Given the description of an element on the screen output the (x, y) to click on. 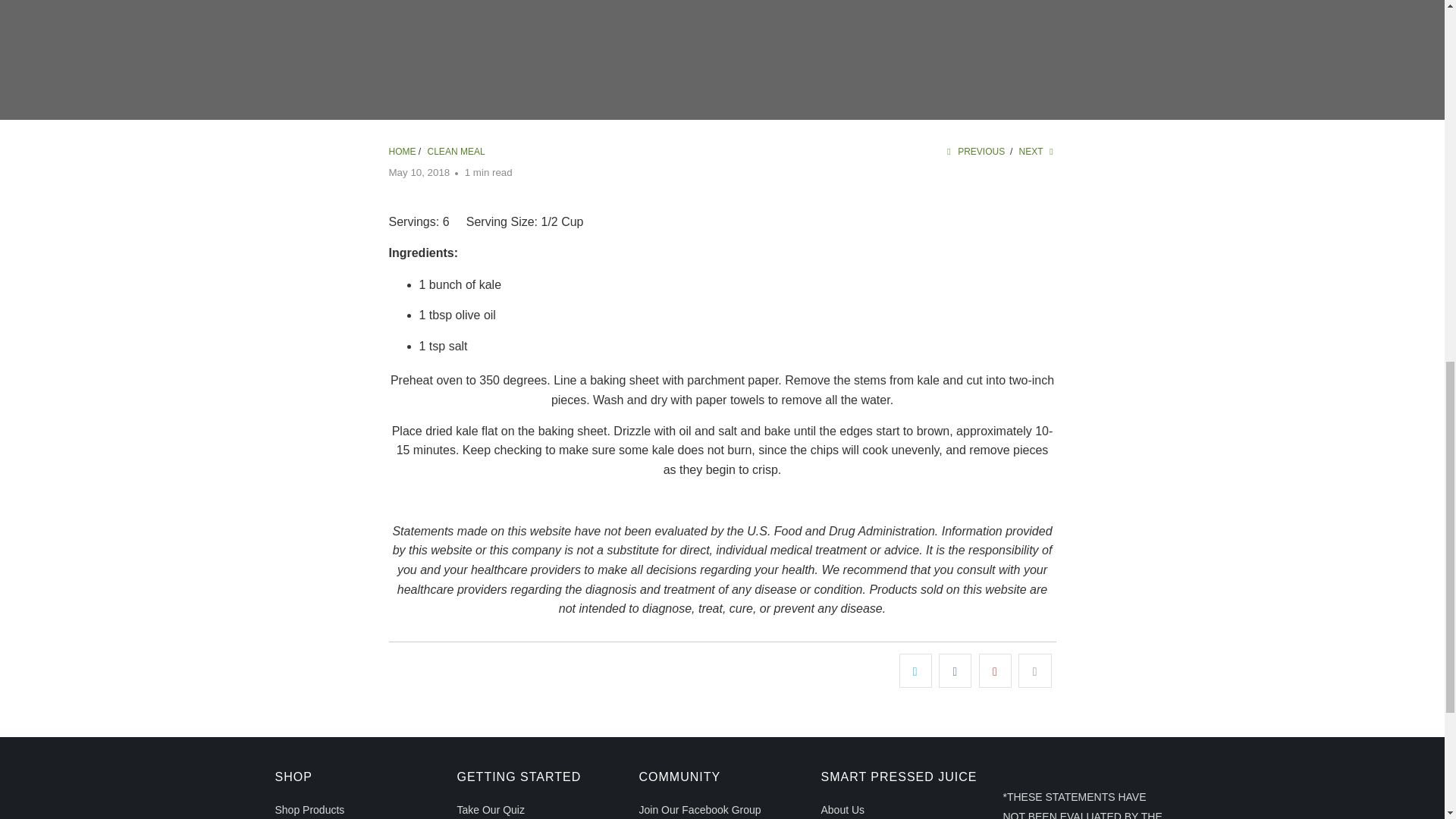
Clean Meal (456, 151)
Share this on Facebook (955, 670)
Share this on Twitter (915, 670)
Share this on Pinterest (994, 670)
Smart Pressed Juice (401, 151)
Email this to a friend (1034, 670)
